Given the description of an element on the screen output the (x, y) to click on. 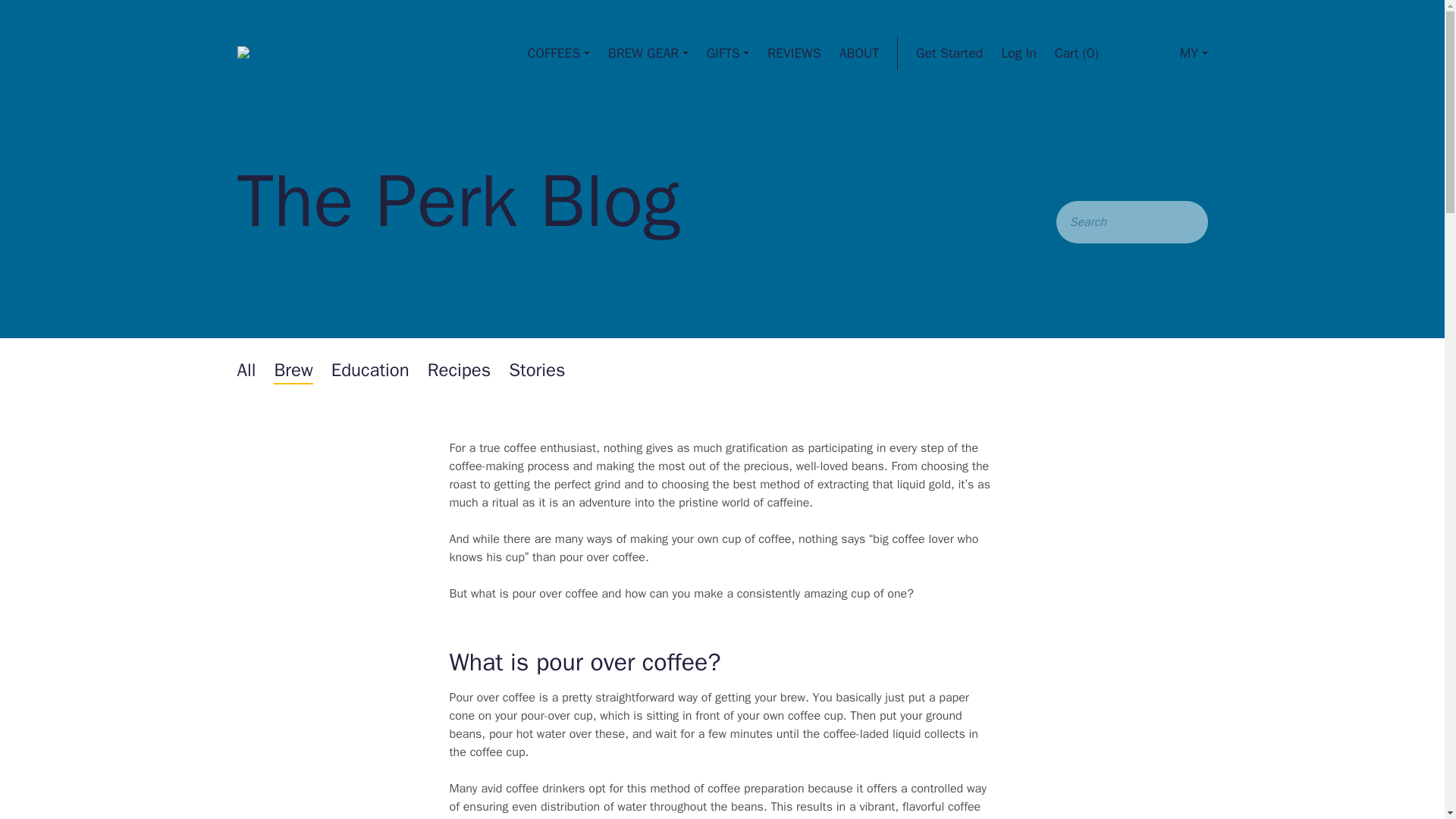
All (245, 370)
BREW GEAR (648, 52)
COFFEES (558, 52)
Get Started (948, 52)
MY (1180, 52)
Brew (293, 370)
Search (1173, 221)
Log In (1018, 52)
REVIEWS (794, 52)
GIFTS (727, 52)
ABOUT (859, 52)
Perk Coffee Malaysia (297, 52)
